Given the description of an element on the screen output the (x, y) to click on. 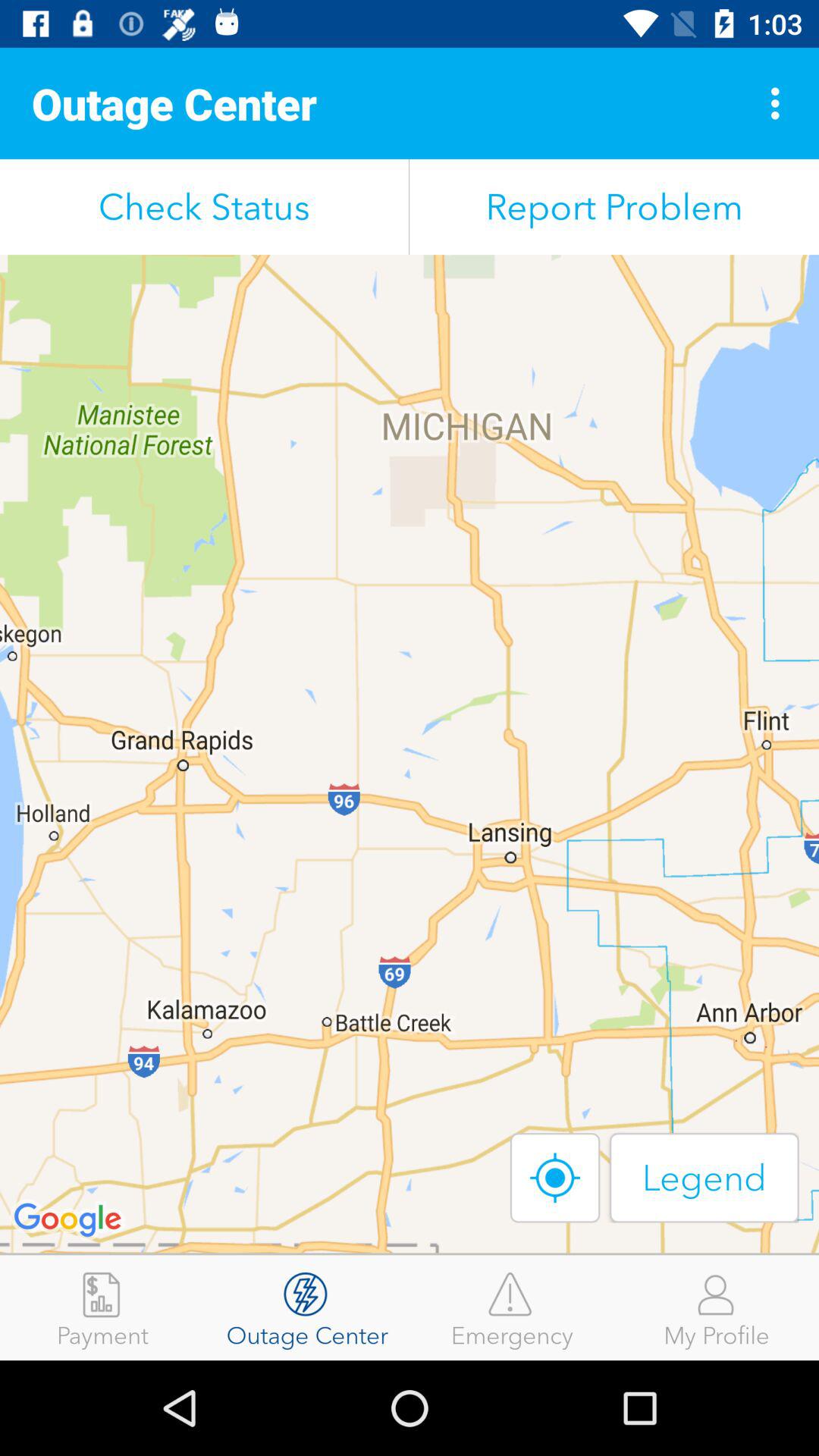
click on my profile option (716, 1307)
click on legend button (704, 1177)
click on the explore icon (554, 1177)
